Given the description of an element on the screen output the (x, y) to click on. 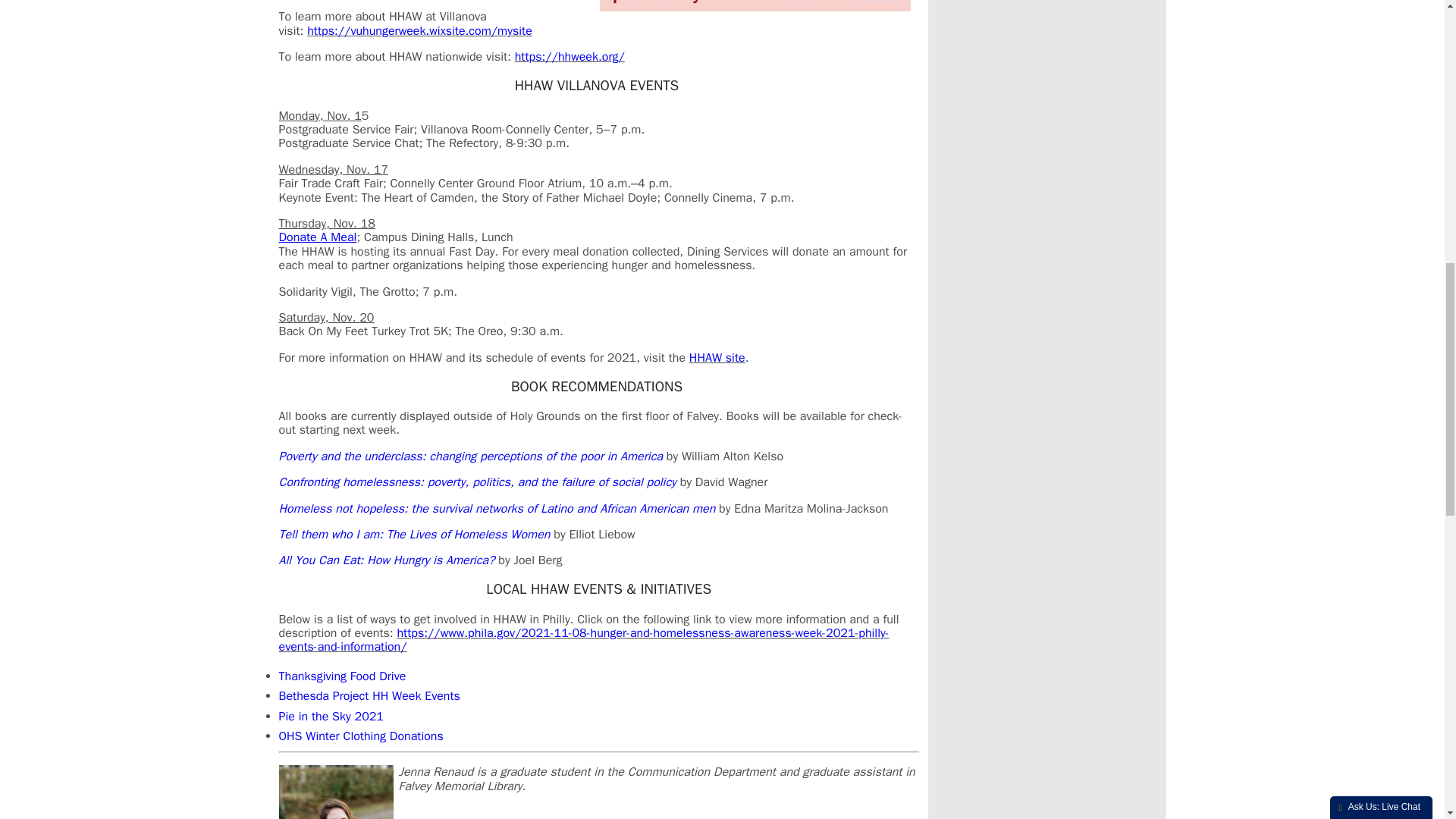
HHAW site (716, 357)
Donate A Meal (317, 237)
All You Can Eat: How Hungry is America? (387, 560)
Pie in the Sky 2021 (331, 716)
Thanksgiving Food Drive (342, 676)
Tell them who I am: The Lives of Homeless Women (414, 534)
Bethesda Project HH Week Events (369, 695)
